Given the description of an element on the screen output the (x, y) to click on. 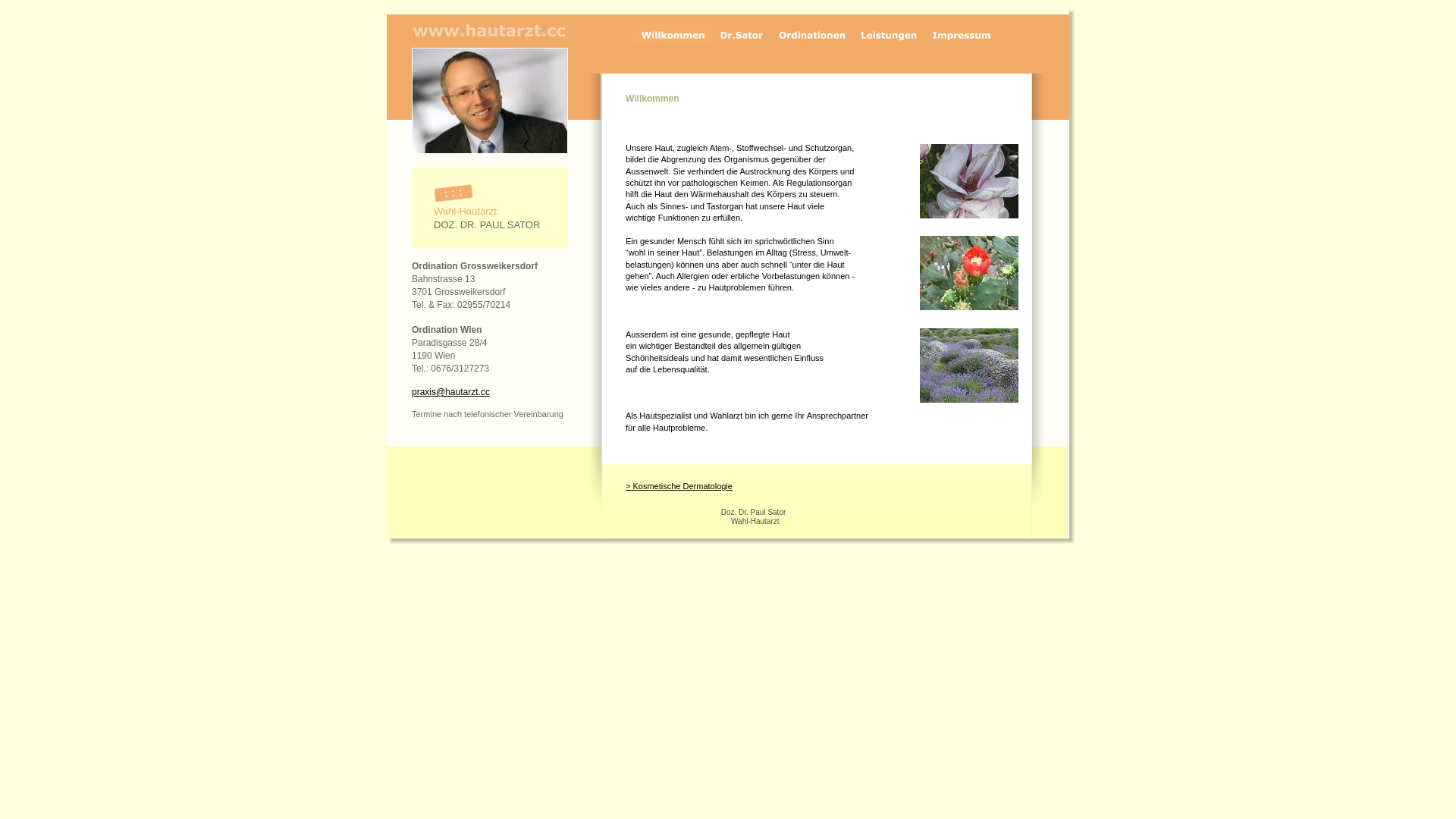
> Kosmetische Dermatologie Element type: text (678, 485)
praxis@hautarzt.cc Element type: text (450, 391)
